Given the description of an element on the screen output the (x, y) to click on. 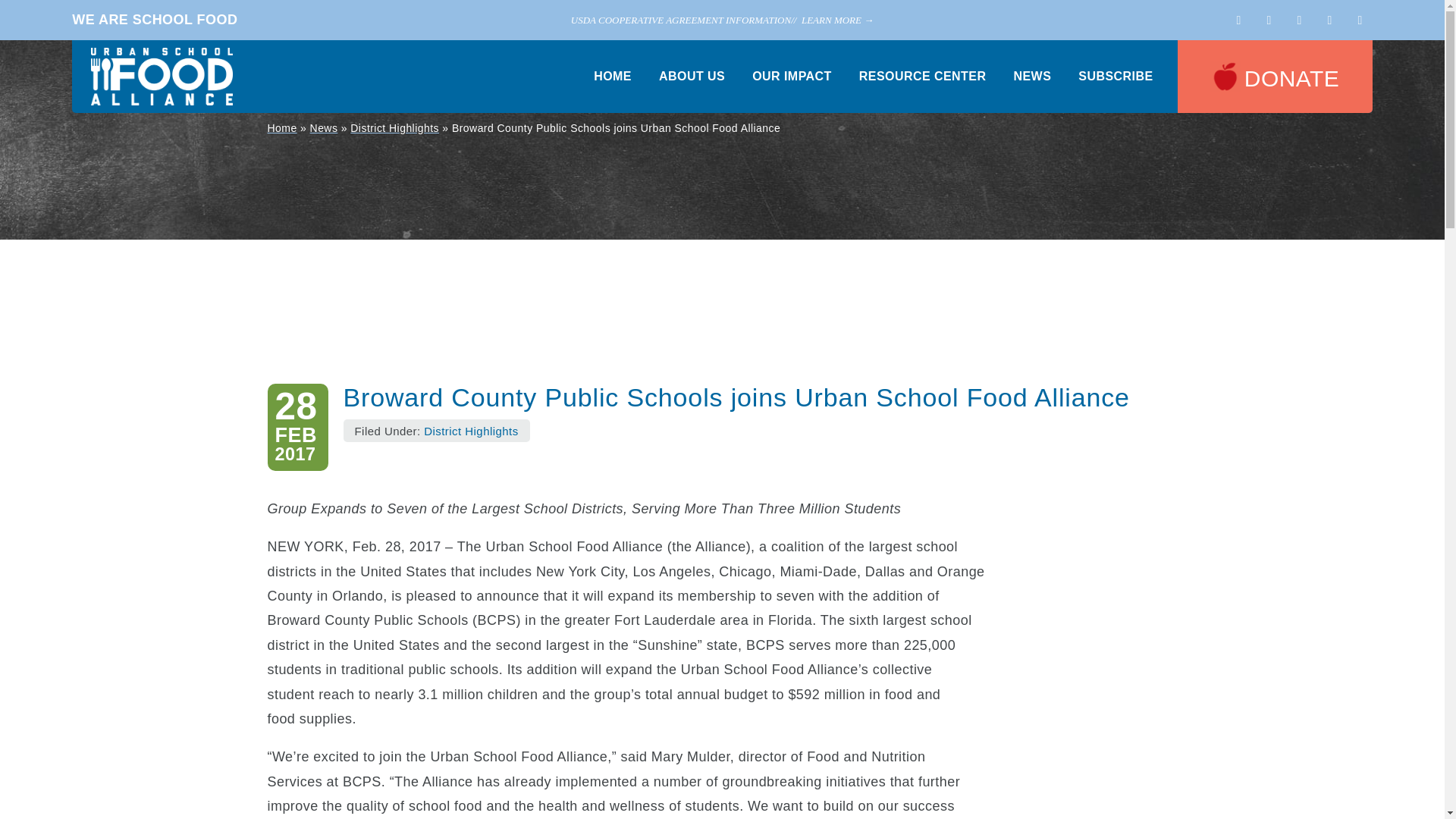
OUR IMPACT (791, 76)
SUBSCRIBE (1115, 76)
Follow on X (1238, 20)
Follow on Youtube (1299, 20)
Follow on Instagram (1360, 20)
ABOUT US (692, 76)
Follow on LinkedIn (1329, 20)
RESOURCE CENTER (923, 76)
Follow on Facebook (1269, 20)
